Given the description of an element on the screen output the (x, y) to click on. 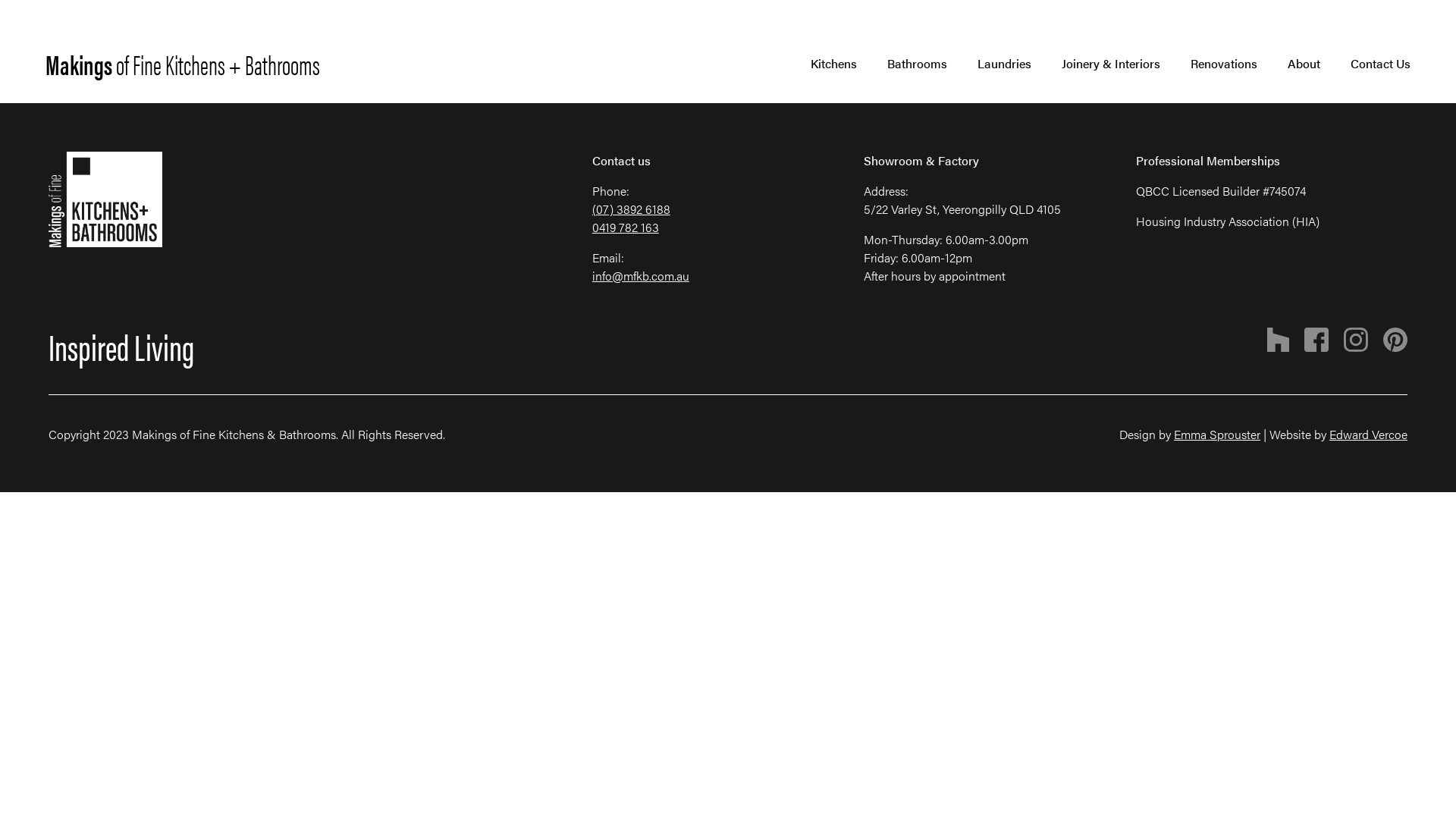
Edward Vercoe Element type: text (1368, 433)
Makings of Fine Kitchens + Bathrooms Element type: text (182, 63)
(07) 3892 6188 Element type: text (631, 208)
0419 782 163 Element type: text (625, 226)
Contact Us Element type: text (1380, 63)
Joinery & Interiors Element type: text (1110, 63)
Bathrooms Element type: text (917, 63)
Renovations Element type: text (1223, 63)
Laundries Element type: text (1004, 63)
About Element type: text (1303, 63)
Emma Sprouster Element type: text (1216, 433)
Kitchens Element type: text (833, 63)
info@mfkb.com.au Element type: text (640, 275)
